Given the description of an element on the screen output the (x, y) to click on. 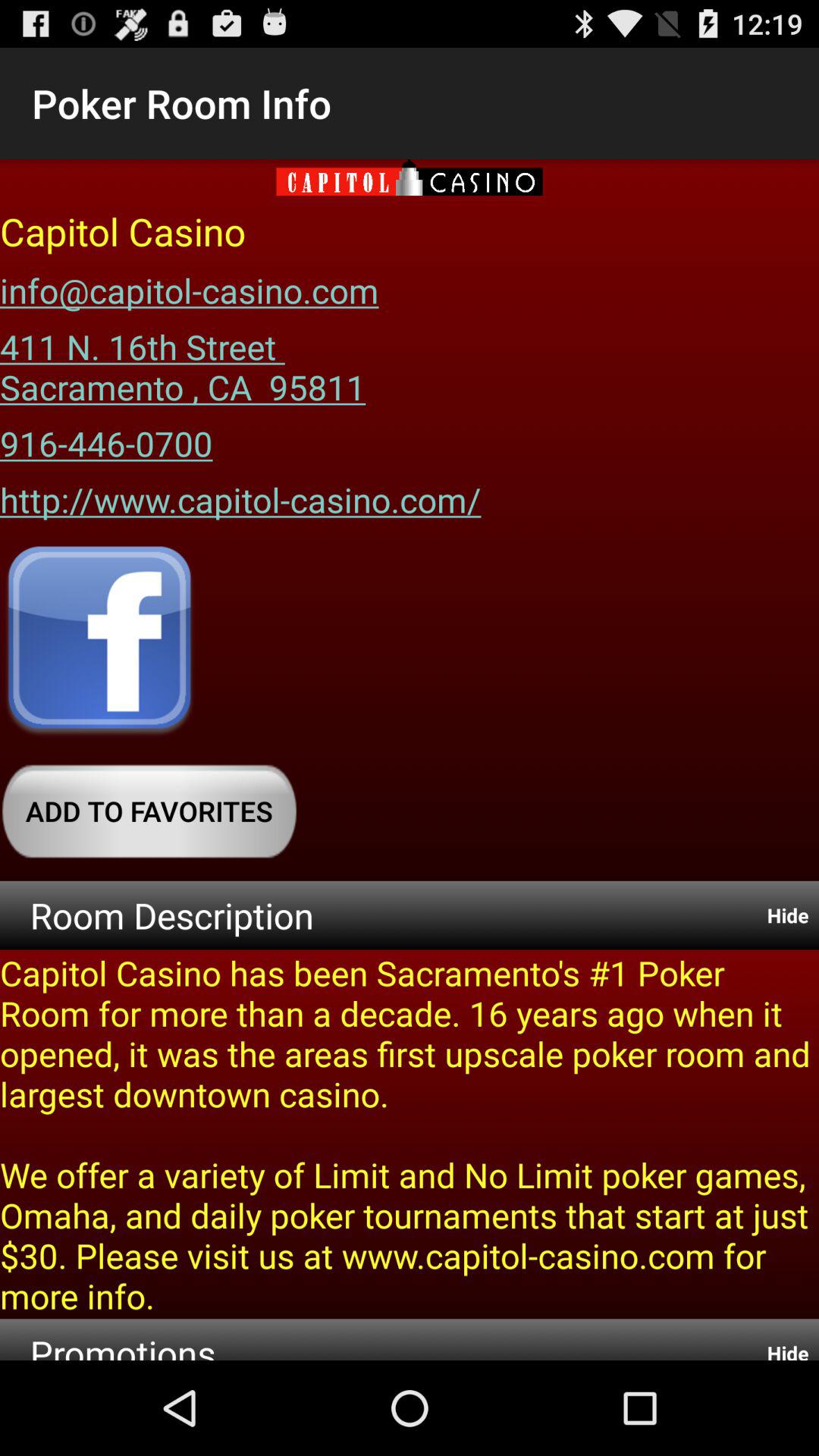
click item above the 916-446-0700 icon (182, 361)
